Given the description of an element on the screen output the (x, y) to click on. 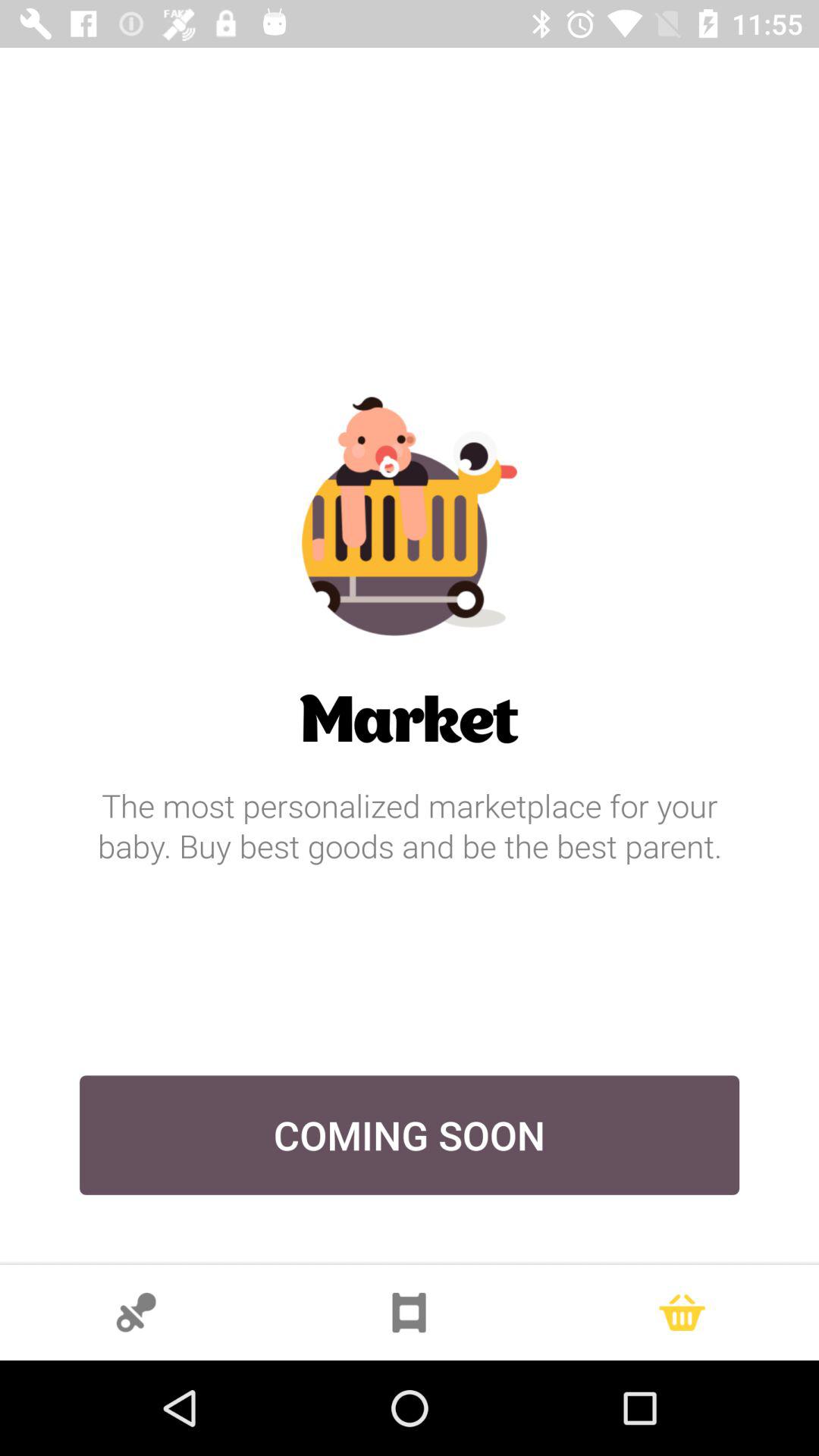
click icon at the bottom left corner (136, 1312)
